Given the description of an element on the screen output the (x, y) to click on. 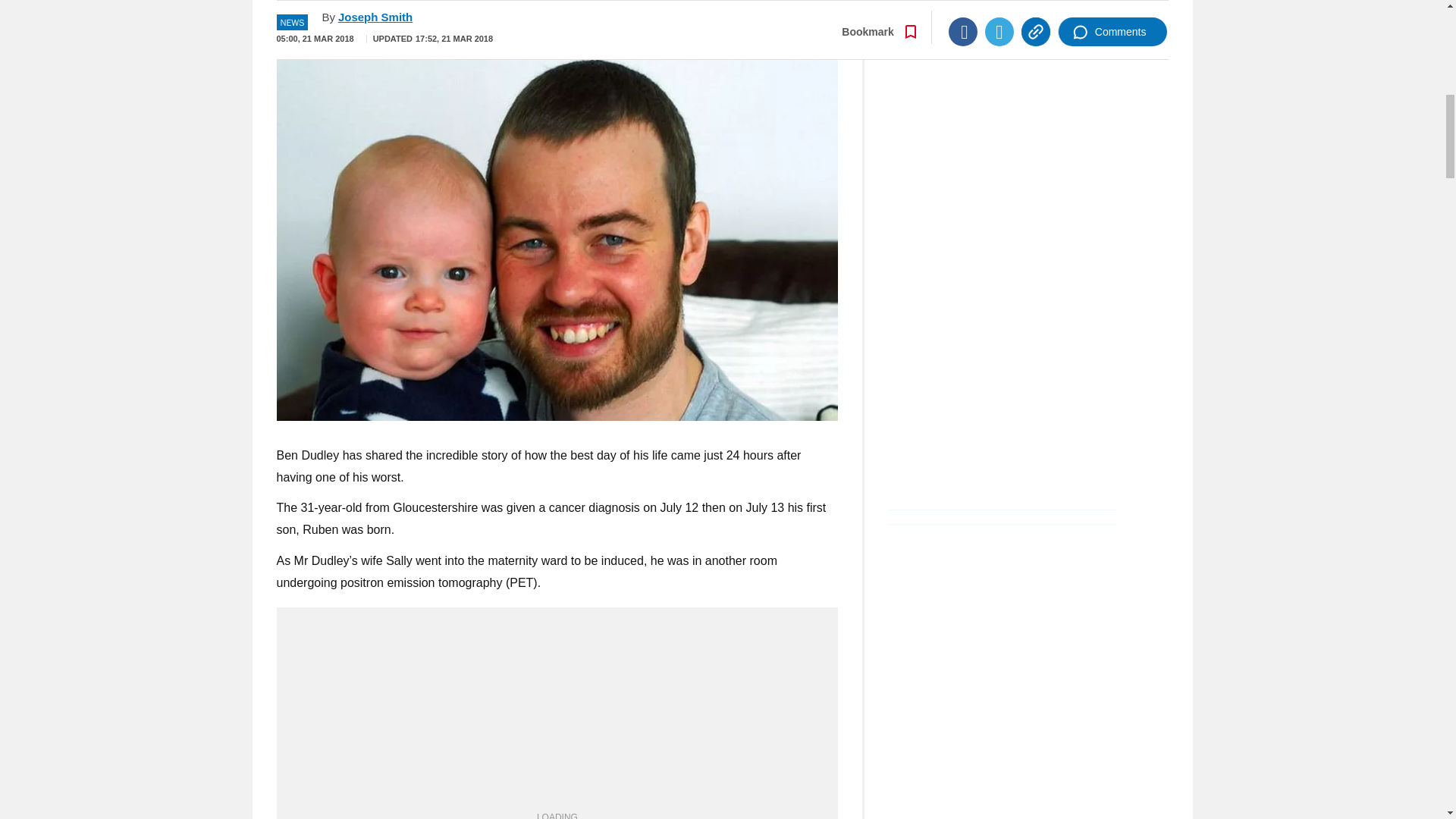
Twitter (999, 7)
Facebook (962, 7)
Comments (1112, 7)
